Given the description of an element on the screen output the (x, y) to click on. 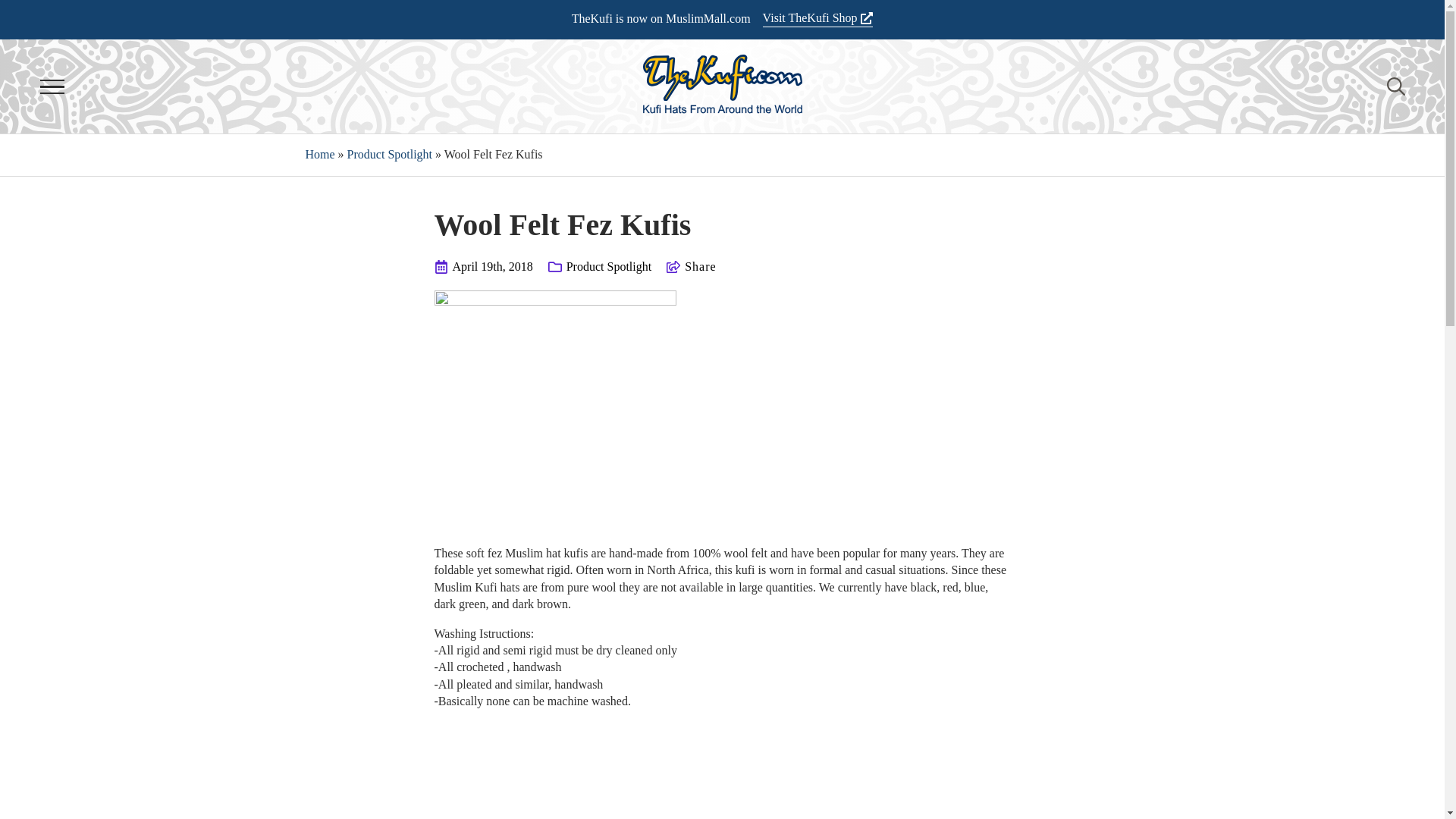
Share (700, 266)
Visit TheKufi Shop (817, 18)
Product Spotlight (608, 266)
Product Spotlight (389, 154)
Home (319, 154)
